Given the description of an element on the screen output the (x, y) to click on. 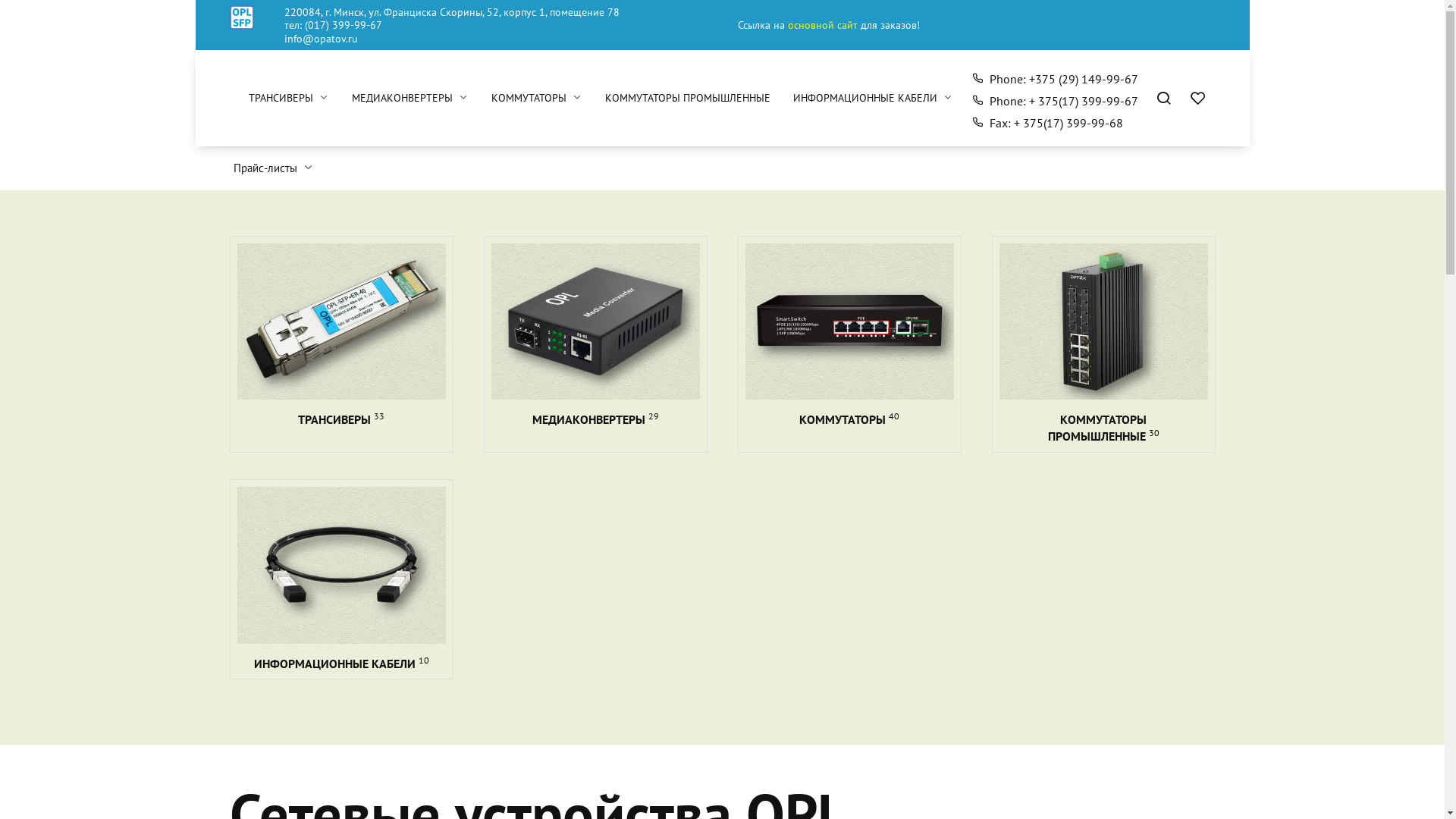
Fax: + 375(17) 399-99-68 Element type: text (1047, 123)
Phone: + 375(17) 399-99-67 Element type: text (1054, 101)
Phone: +375 (29) 149-99-67 Element type: text (1054, 79)
